Given the description of an element on the screen output the (x, y) to click on. 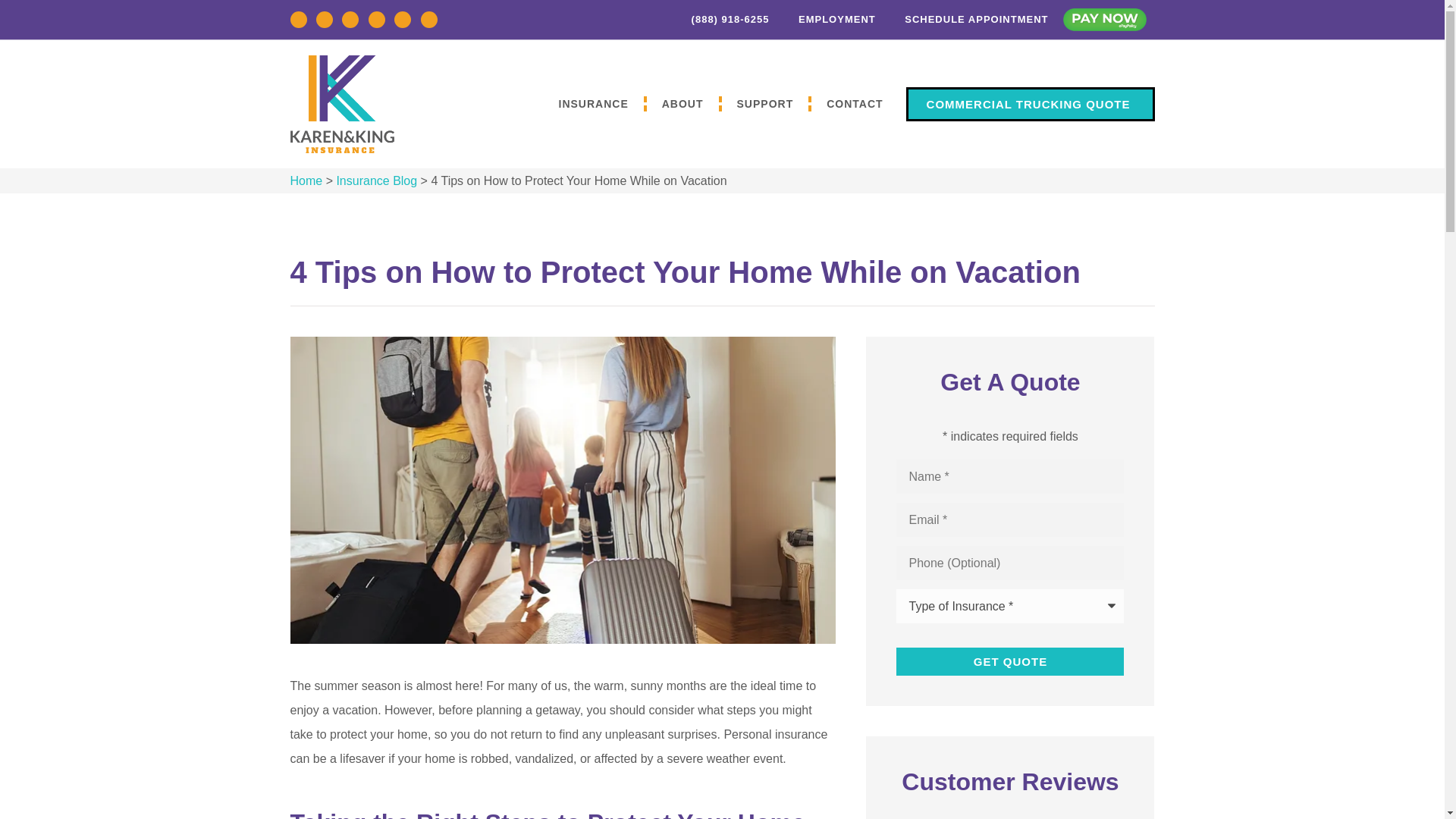
INSURANCE (593, 103)
karen-and-king-logo (341, 104)
Get Quote (1010, 661)
PayNowNew1.png (1104, 19)
SCHEDULE APPOINTMENT (968, 19)
EMPLOYMENT (827, 19)
